Given the description of an element on the screen output the (x, y) to click on. 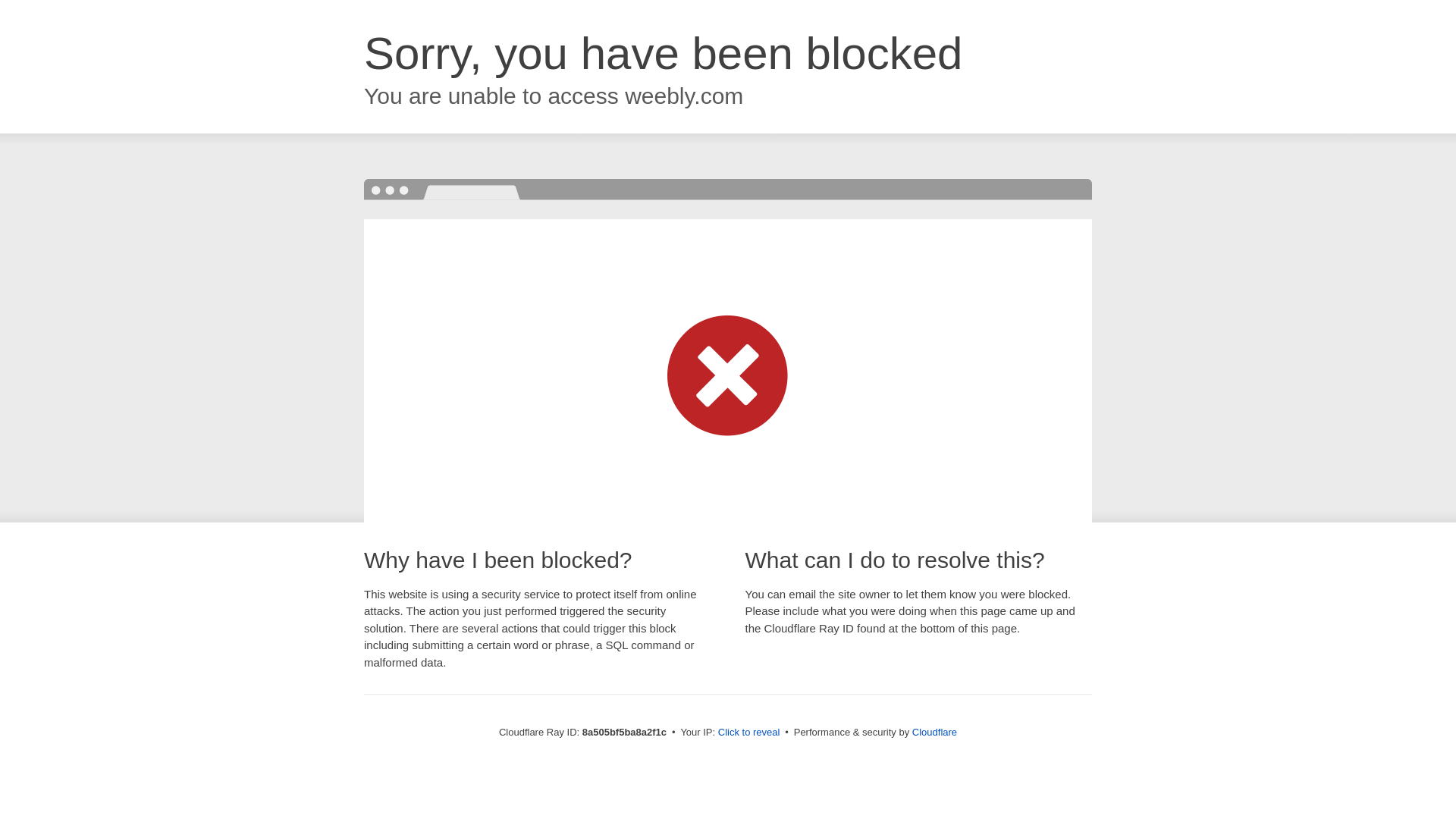
Cloudflare (934, 731)
Click to reveal (748, 732)
